Given the description of an element on the screen output the (x, y) to click on. 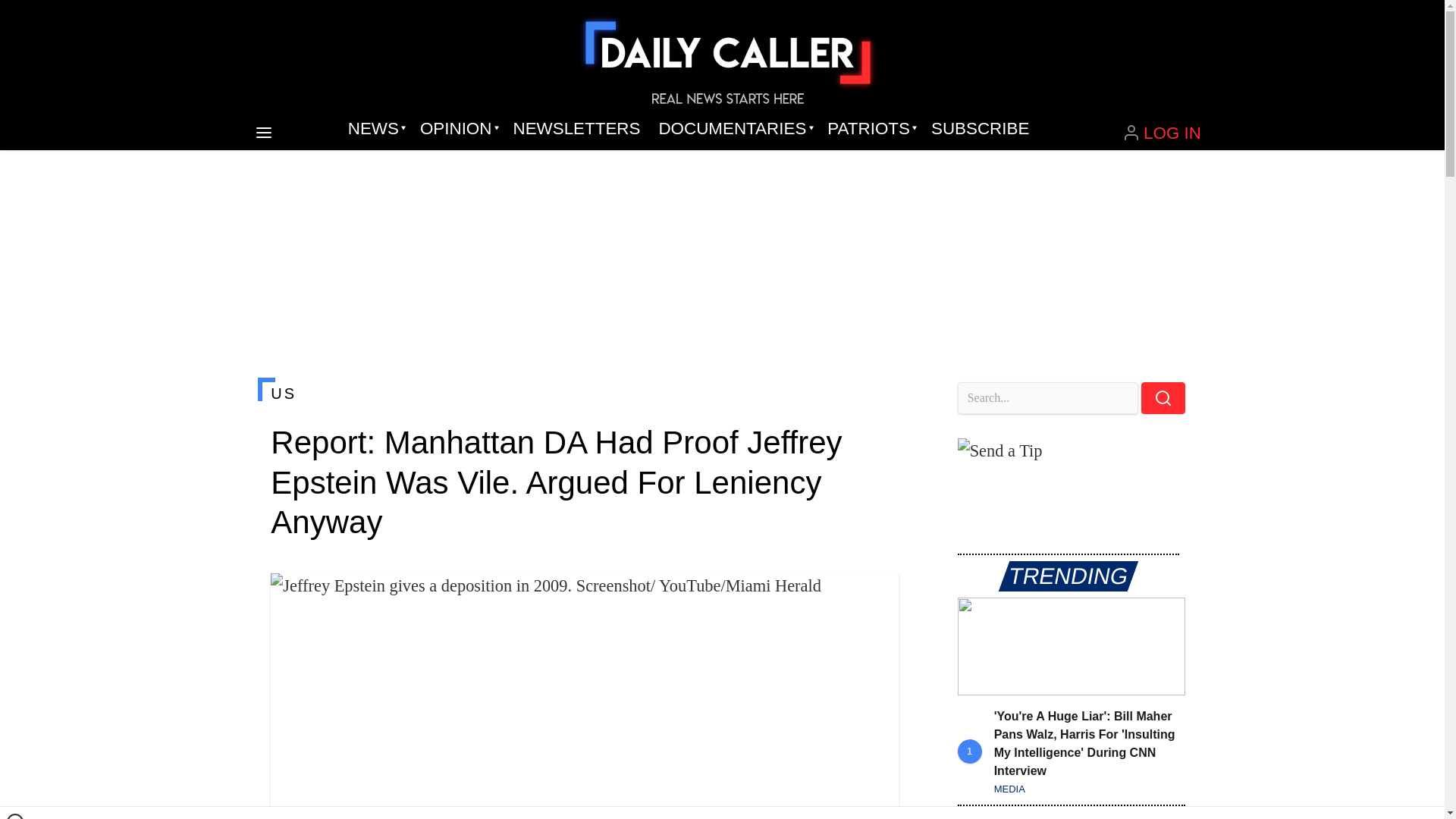
SUBSCRIBE (979, 128)
Close window (14, 816)
OPINION (456, 128)
Toggle fullscreen (874, 596)
DOCUMENTARIES (733, 128)
NEWSLETTERS (576, 128)
US (584, 393)
NEWS (374, 128)
PATRIOTS (869, 128)
